Given the description of an element on the screen output the (x, y) to click on. 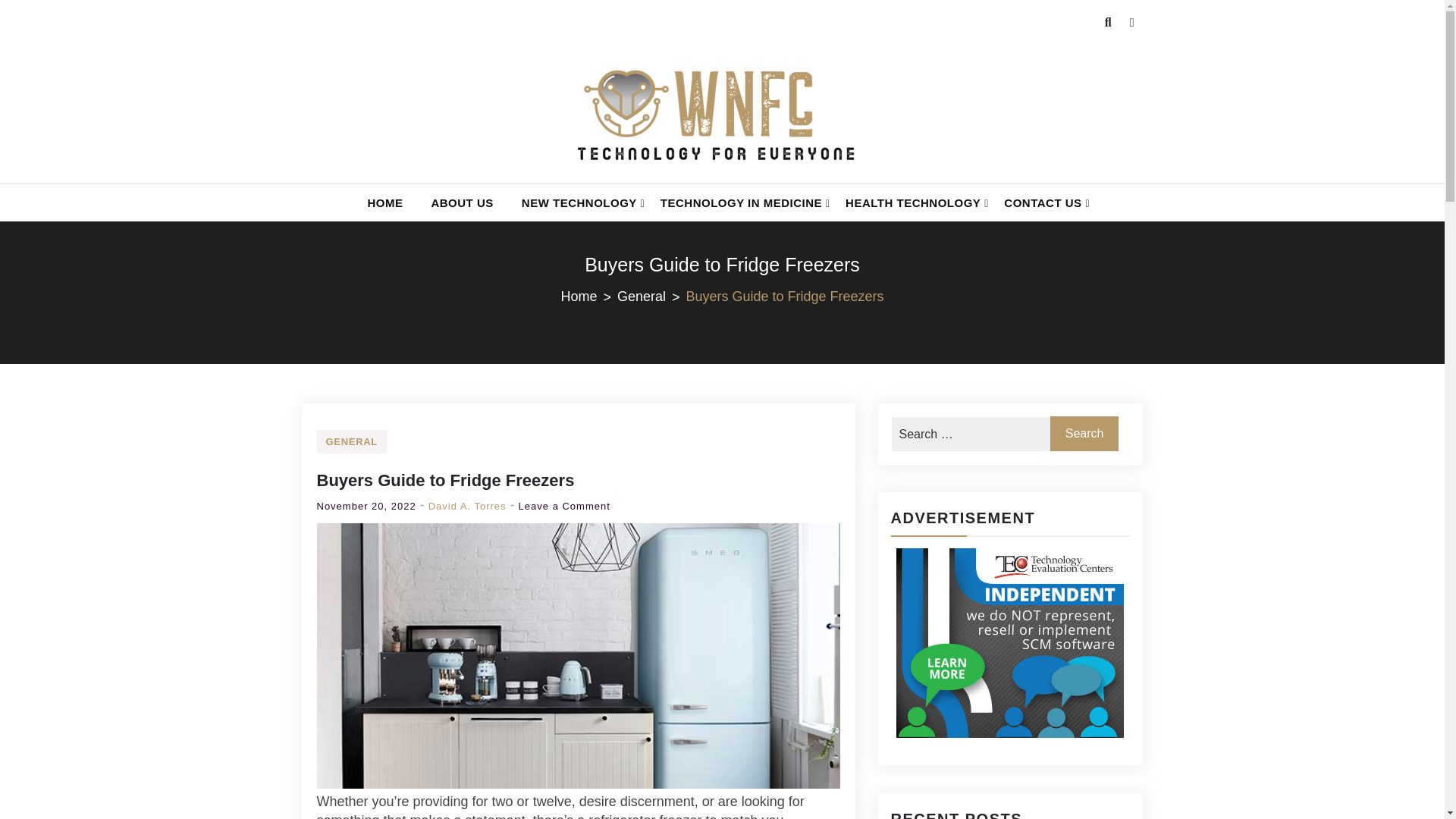
Search (1084, 433)
TECHNOLOGY IN MEDICINE (738, 202)
Search (1084, 433)
GENERAL (352, 441)
HEALTH TECHNOLOGY (910, 202)
ABOUT US (462, 202)
CONTACT US (1040, 202)
NEW TECHNOLOGY (564, 505)
David A. Torres (577, 202)
November 20, 2022 (467, 505)
General (366, 505)
Buyers Guide to Fridge Freezers (651, 295)
Search (446, 479)
HOME (1084, 433)
